Given the description of an element on the screen output the (x, y) to click on. 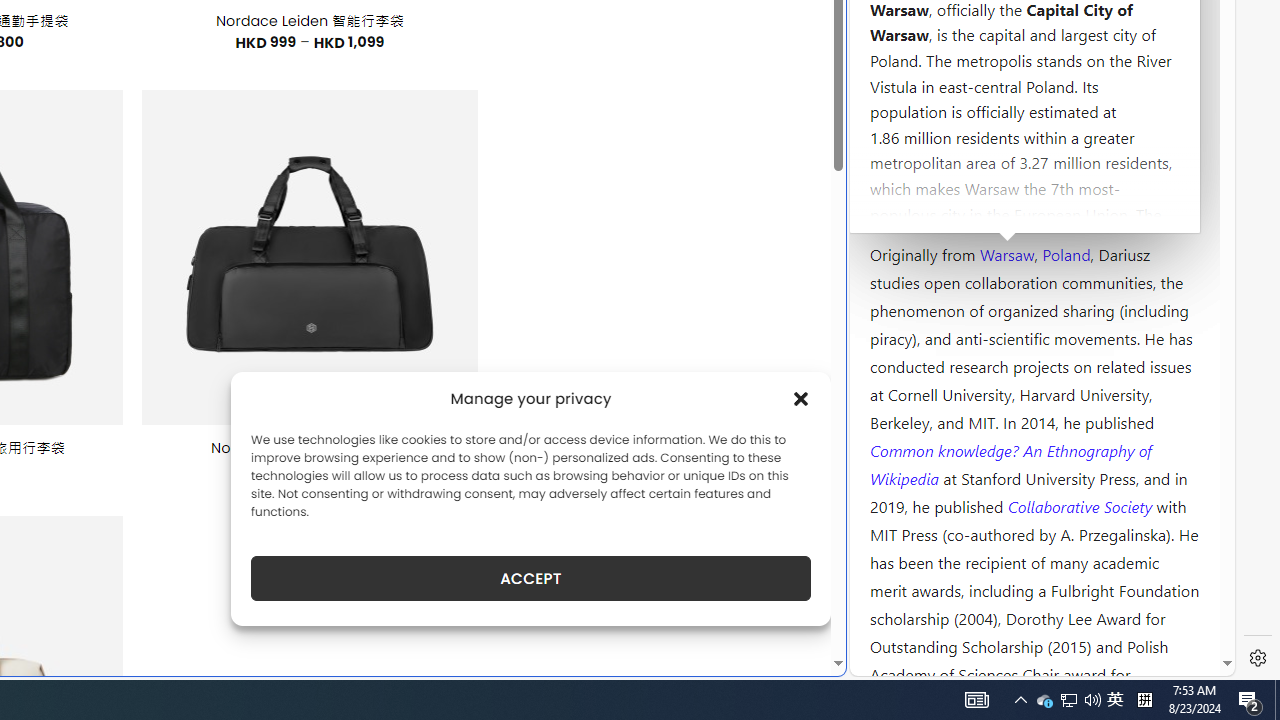
Class: cmplz-close (801, 398)
Collaborative Society  (1082, 505)
Harvard University (934, 205)
Poland (1065, 253)
Common knowledge? An Ethnography of Wikipedia (1010, 463)
Warsaw (1006, 253)
Actions for this site (1129, 306)
